Given the description of an element on the screen output the (x, y) to click on. 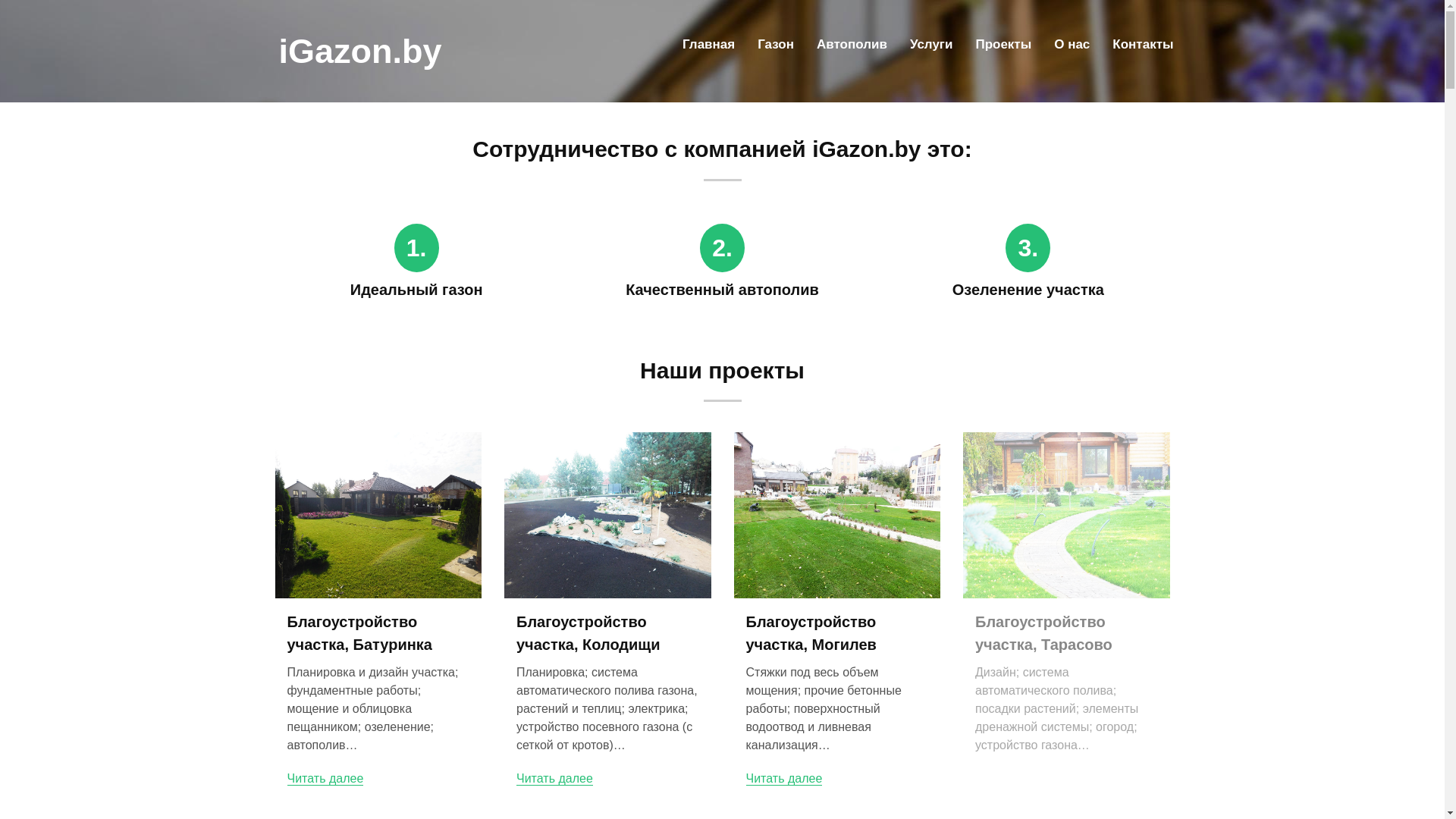
iGazon.by Element type: text (360, 51)
